Given the description of an element on the screen output the (x, y) to click on. 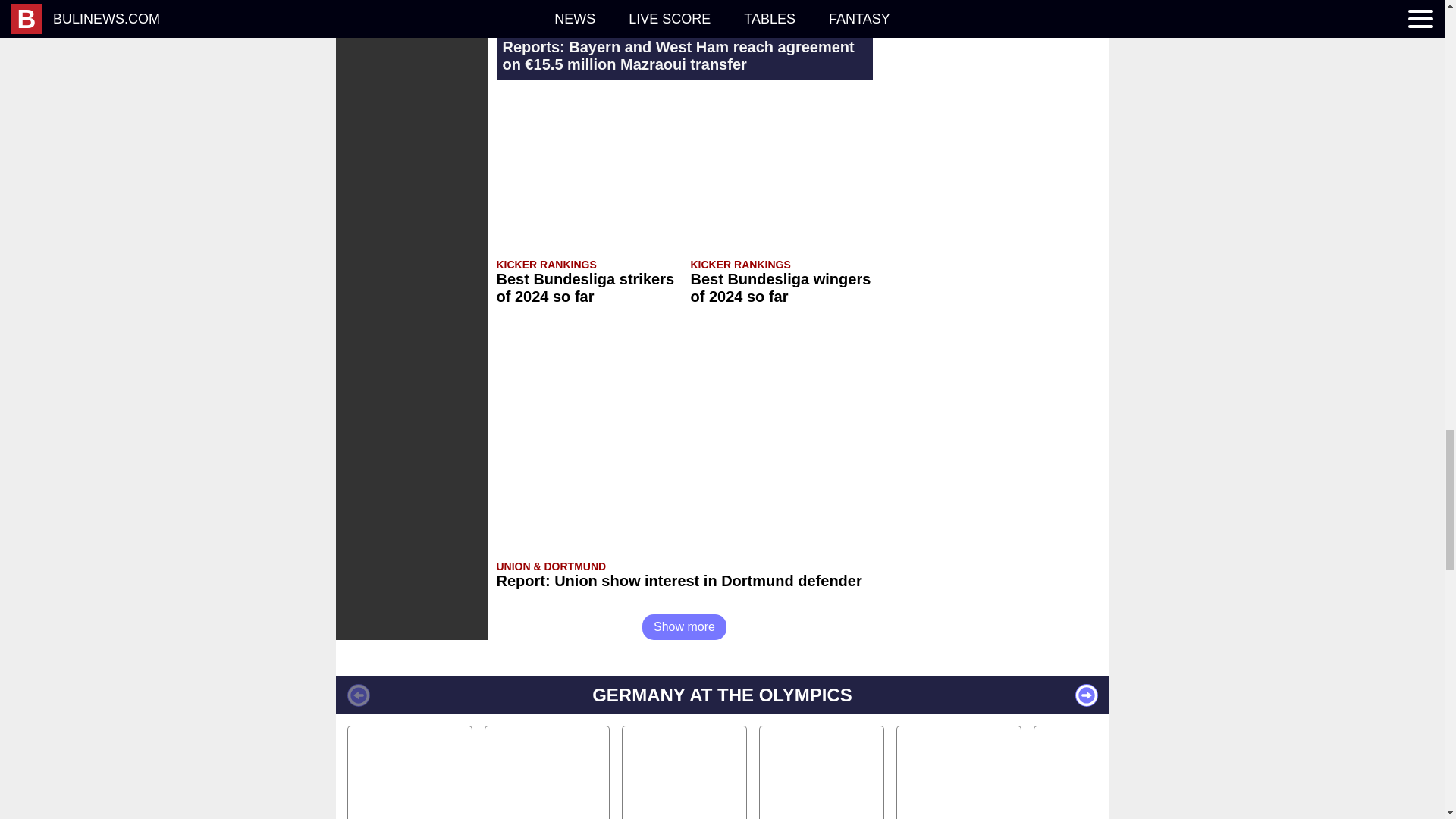
GERMANY AT THE OLYMPICS (721, 695)
